Given the description of an element on the screen output the (x, y) to click on. 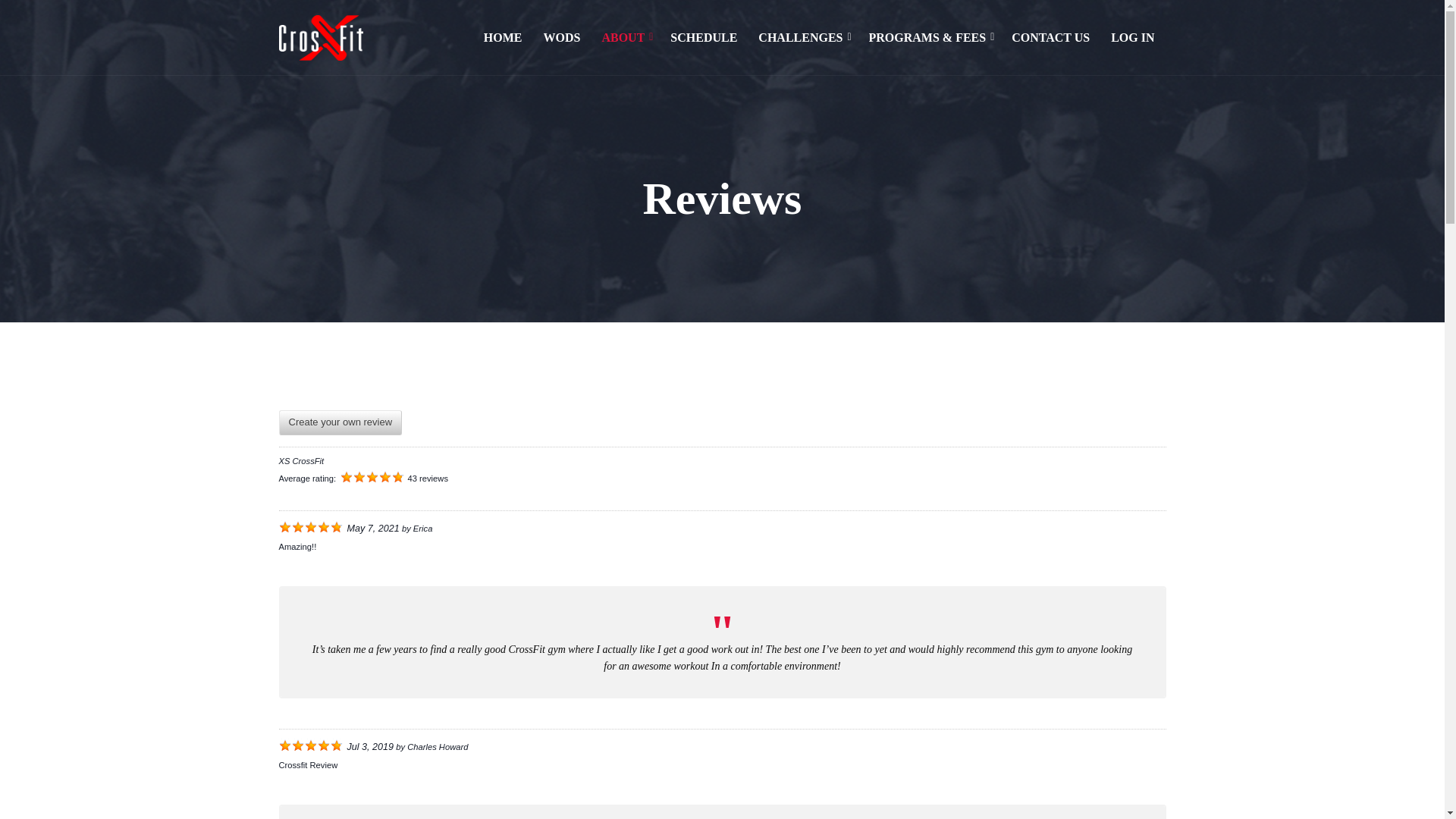
CONTACT US (1050, 38)
HOME (502, 38)
SCHEDULE (703, 38)
CHALLENGES (800, 38)
LOG IN (1127, 38)
WODS (561, 38)
ABOUT (623, 38)
